Given the description of an element on the screen output the (x, y) to click on. 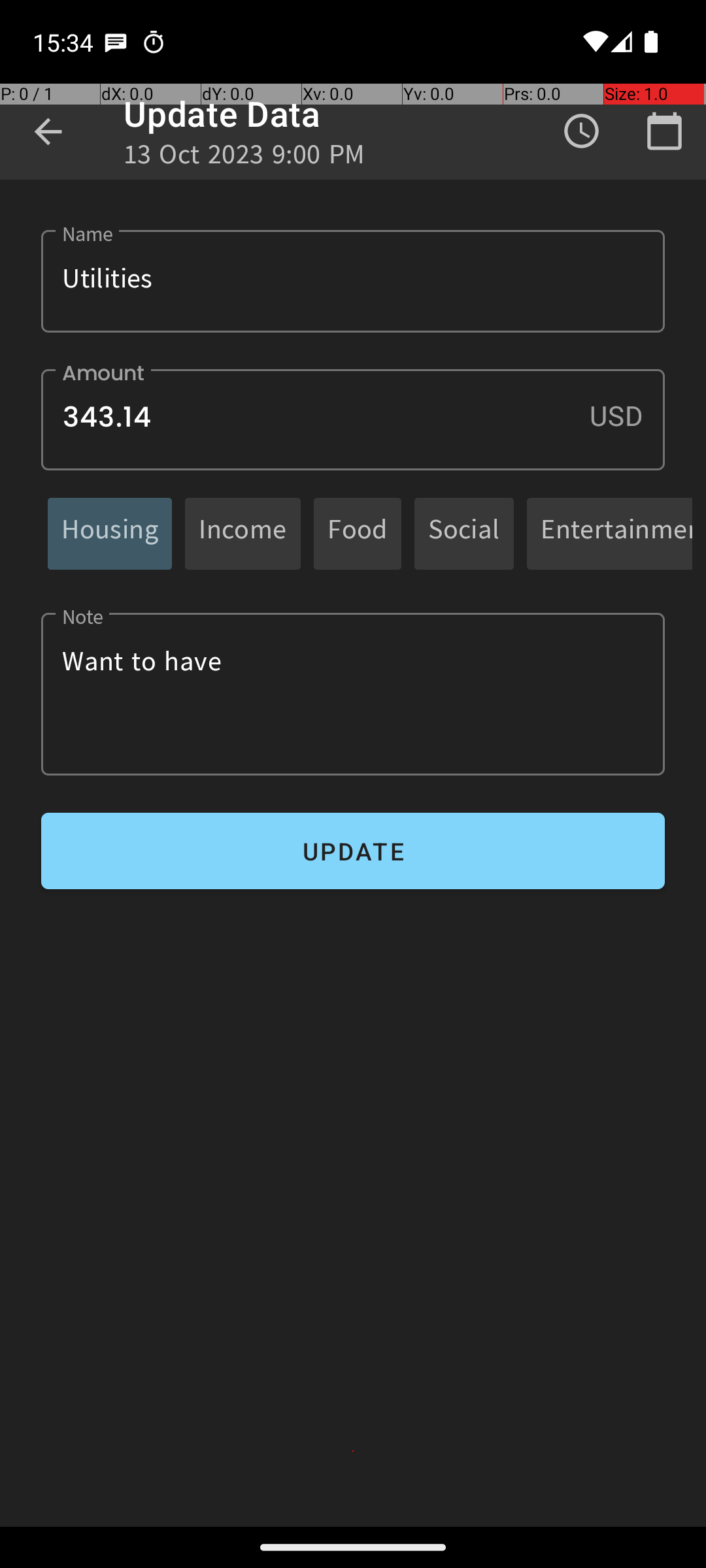
13 Oct 2023 9:00 PM Element type: android.widget.TextView (244, 157)
Utilities Element type: android.widget.EditText (352, 280)
343.14 Element type: android.widget.EditText (352, 419)
SMS Messenger notification: Emily Ibrahim Element type: android.widget.ImageView (115, 41)
